Given the description of an element on the screen output the (x, y) to click on. 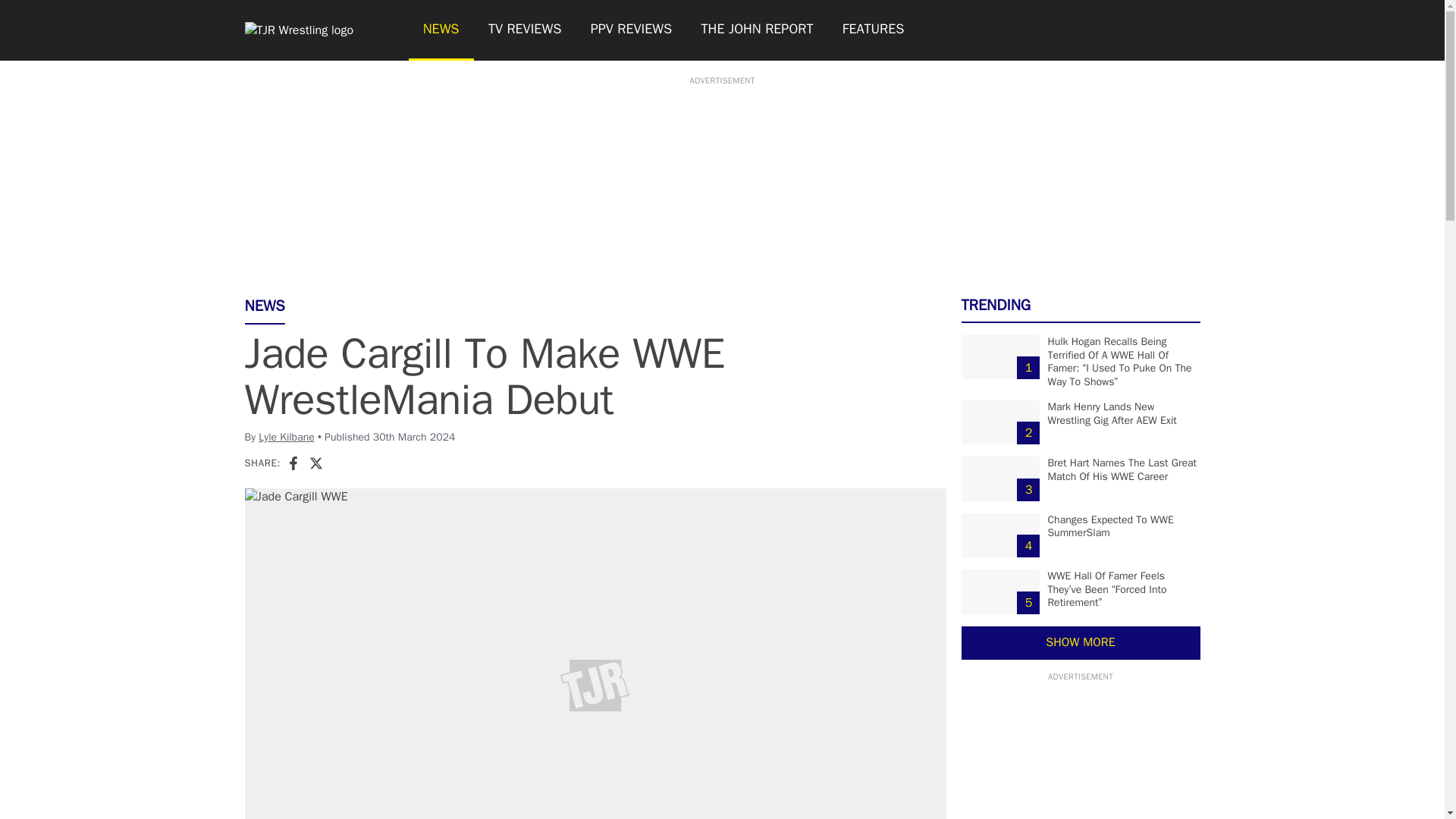
Facebook (292, 463)
NEWS (440, 30)
PPV REVIEWS (631, 30)
Facebook (292, 462)
X (315, 462)
TV REVIEWS (525, 30)
THE JOHN REPORT (756, 30)
X (315, 463)
Lyle Kilbane (286, 436)
FEATURES (873, 30)
